Given the description of an element on the screen output the (x, y) to click on. 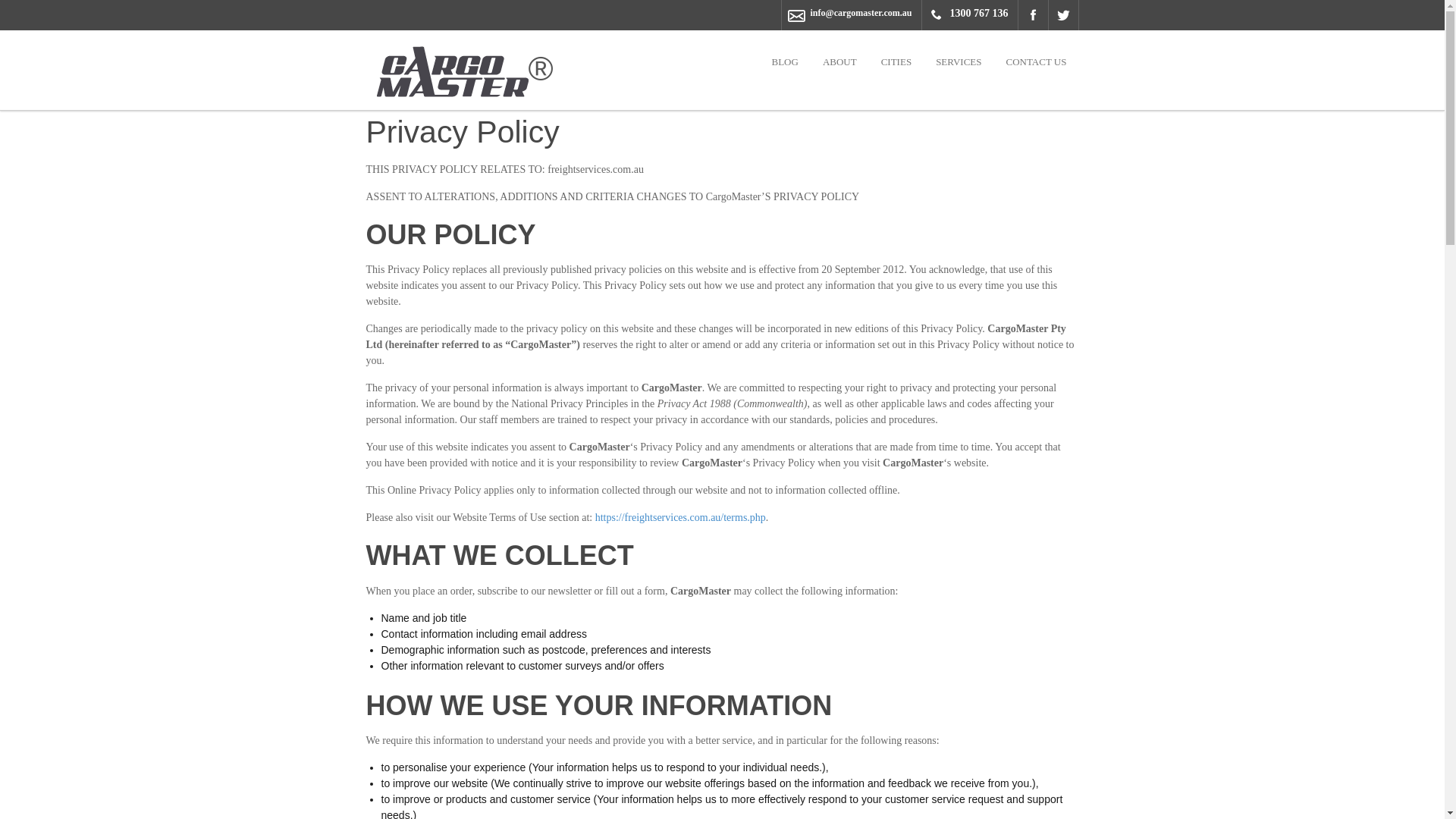
SERVICES Element type: text (958, 61)
CONTACT US Element type: text (1036, 61)
CITIES Element type: text (895, 61)
https://freightservices.com.au/terms.php Element type: text (680, 517)
info@cargomaster.com.au Element type: text (860, 12)
email Element type: hover (797, 15)
ABOUT Element type: text (839, 61)
phone Element type: hover (936, 14)
facebook Element type: hover (1032, 14)
BLOG Element type: text (784, 61)
twitter Element type: hover (1062, 14)
